Given the description of an element on the screen output the (x, y) to click on. 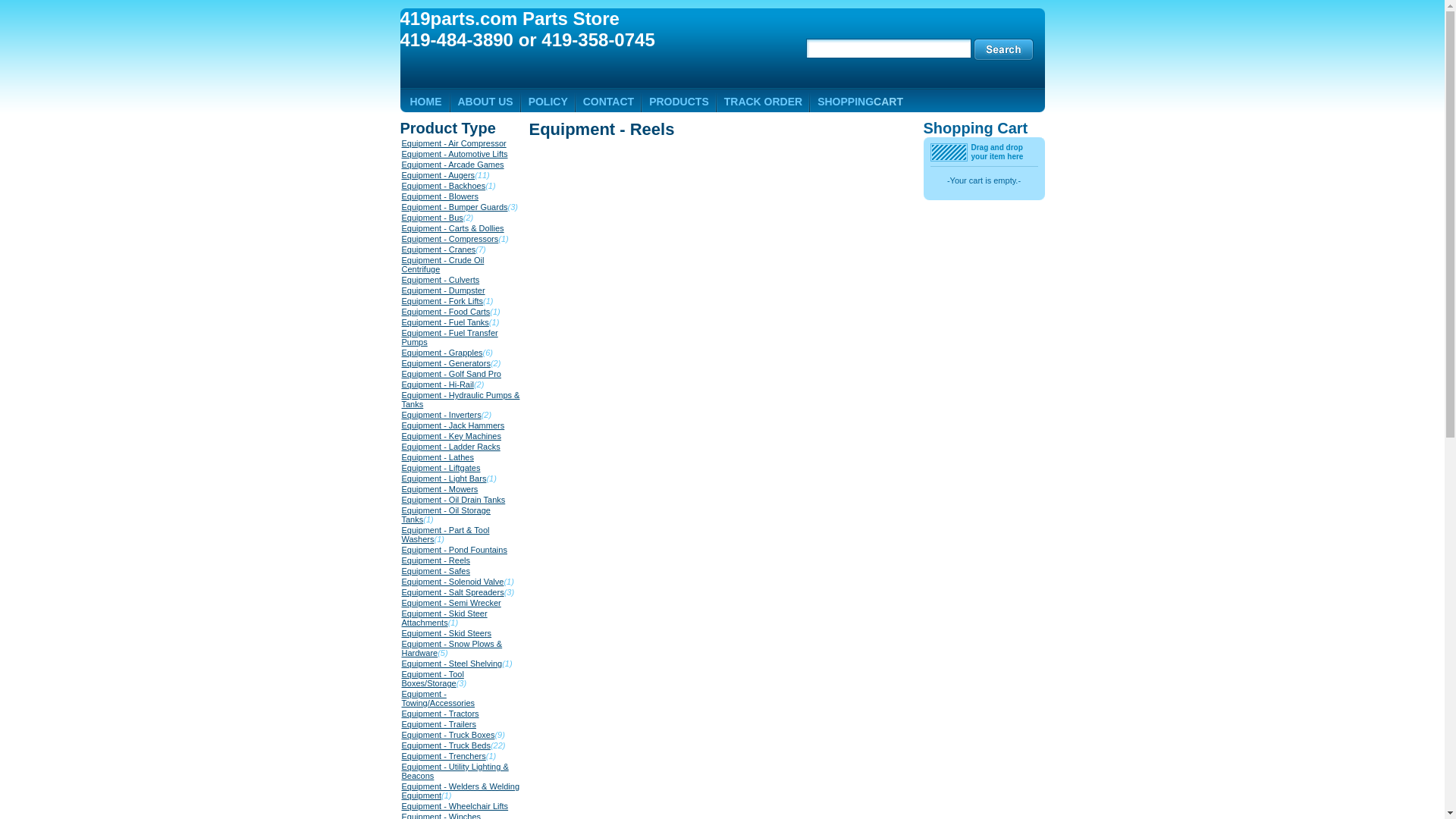
Equipment - Dumpster Element type: text (443, 289)
HOME Element type: text (425, 101)
SHOPPINGCART Element type: text (860, 101)
Equipment - Utility Lighting & Beacons Element type: text (454, 771)
Equipment - Liftgates Element type: text (440, 467)
Equipment - Key Machines Element type: text (451, 435)
Equipment - Mowers Element type: text (439, 488)
Equipment - Lathes Element type: text (437, 456)
Equipment - Carts & Dollies Element type: text (452, 227)
Equipment - Snow Plows & Hardware Element type: text (451, 648)
Equipment - Culverts Element type: text (440, 279)
Equipment - Ladder Racks Element type: text (450, 446)
Equipment - Truck Boxes Element type: text (448, 734)
ABOUT US Element type: text (485, 101)
Equipment - Air Compressor Element type: text (453, 142)
Equipment - Bus Element type: text (432, 217)
Equipment - Part & Tool Washers Element type: text (445, 534)
Equipment - Generators Element type: text (445, 362)
Equipment - Bumper Guards Element type: text (454, 206)
Equipment - Golf Sand Pro Element type: text (451, 373)
Equipment - Jack Hammers Element type: text (453, 424)
Equipment - Trailers Element type: text (438, 723)
Equipment - Compressors Element type: text (449, 238)
CONTACT Element type: text (608, 101)
Equipment - Skid Steer Attachments Element type: text (444, 617)
Equipment - Trenchers Element type: text (443, 755)
Equipment - Hydraulic Pumps & Tanks Element type: text (460, 399)
Equipment - Truck Beds Element type: text (445, 744)
Equipment - Reels Element type: text (435, 559)
PRODUCTS Element type: text (679, 101)
Equipment - Welders & Welding Equipment Element type: text (460, 790)
Equipment - Food Carts Element type: text (445, 311)
Equipment - Steel Shelving Element type: text (451, 663)
Equipment - Tool Boxes/Storage Element type: text (432, 678)
POLICY Element type: text (547, 101)
Equipment - Wheelchair Lifts Element type: text (454, 805)
Equipment - Augers Element type: text (438, 174)
Equipment - Blowers Element type: text (440, 195)
Equipment - Skid Steers Element type: text (446, 632)
Equipment - Grapples Element type: text (442, 352)
Equipment - Fuel Transfer Pumps Element type: text (449, 337)
Equipment - Tractors Element type: text (440, 713)
419parts.com Parts Store
419-484-3890 or 419-358-0745 Element type: text (570, 29)
Equipment - Towing/Accessories Element type: text (438, 698)
Equipment - Semi Wrecker Element type: text (451, 602)
Equipment - Reels Element type: text (601, 128)
Equipment - Arcade Games Element type: text (452, 164)
Equipment - Hi-Rail Element type: text (437, 384)
TRACK ORDER Element type: text (763, 101)
Equipment - Solenoid Valve Element type: text (452, 581)
Equipment - Safes Element type: text (435, 570)
Equipment - Inverters Element type: text (441, 414)
Equipment - Crude Oil Centrifuge Element type: text (442, 264)
Equipment - Automotive Lifts Element type: text (454, 153)
Equipment - Oil Drain Tanks Element type: text (453, 499)
Equipment - Light Bars Element type: text (443, 478)
Equipment - Fuel Tanks Element type: text (445, 321)
Equipment - Oil Storage Tanks Element type: text (445, 514)
Equipment - Cranes Element type: text (438, 249)
Equipment - Fork Lifts Element type: text (442, 300)
Equipment - Salt Spreaders Element type: text (452, 591)
Equipment - Backhoes Element type: text (443, 185)
Equipment - Pond Fountains Element type: text (454, 549)
